Given the description of an element on the screen output the (x, y) to click on. 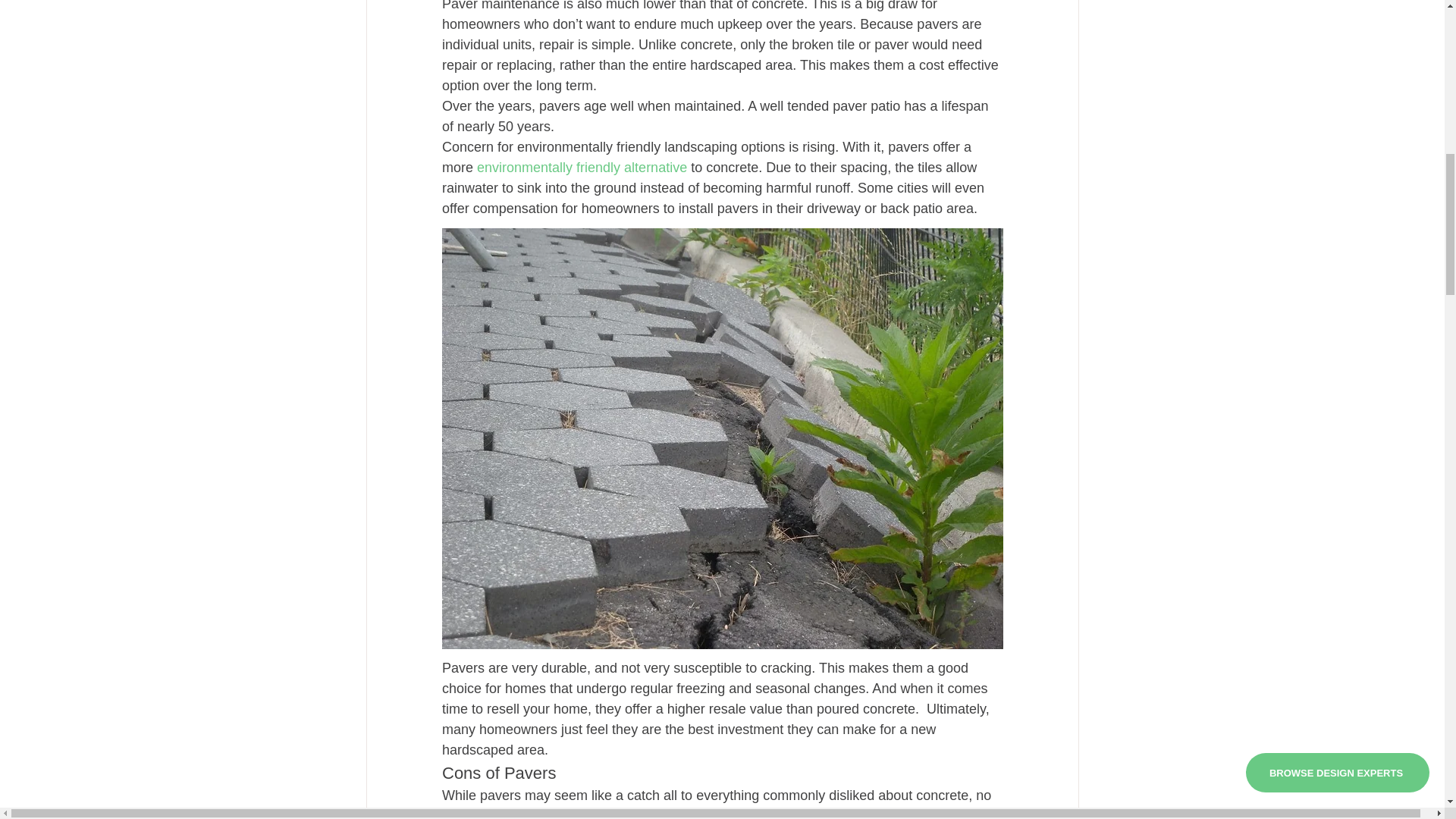
environmentally friendly alternative (582, 167)
